Given the description of an element on the screen output the (x, y) to click on. 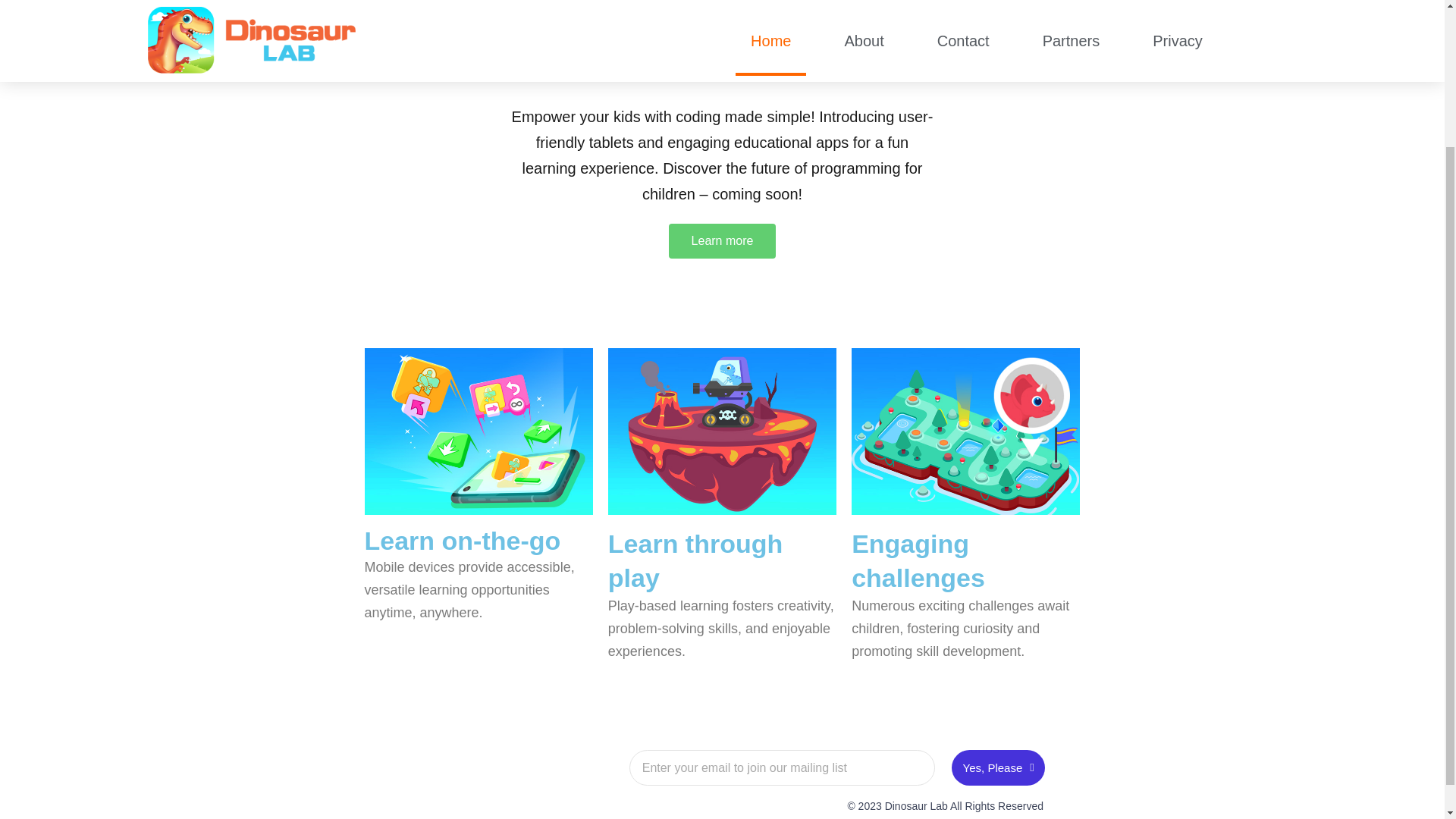
Engaging challenges (918, 560)
Learn through play (695, 560)
Yes, Please (998, 767)
Learn on-the-go (462, 540)
Learn more (722, 240)
